Given the description of an element on the screen output the (x, y) to click on. 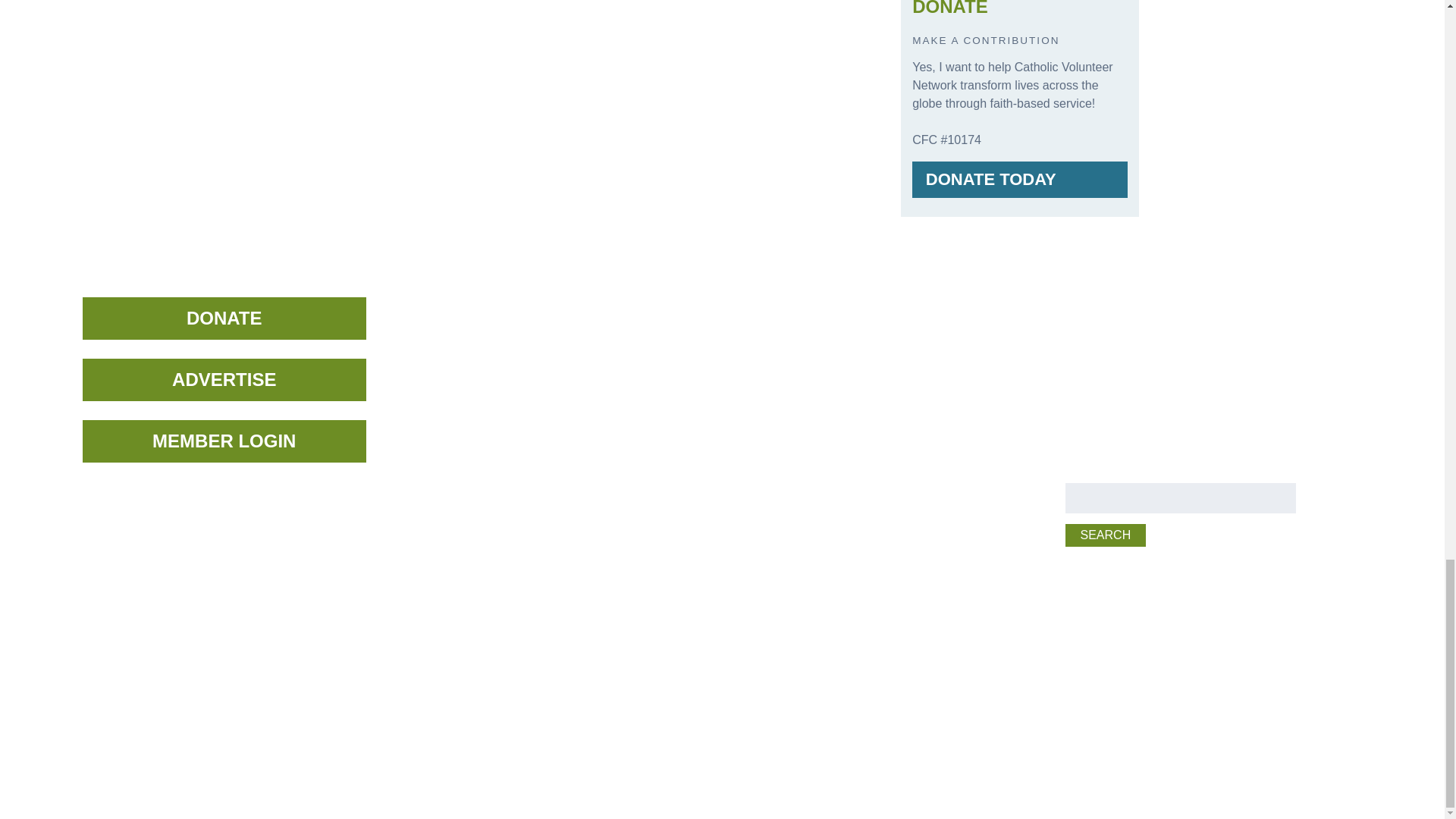
DONATE TODAY (1019, 179)
WHO WE ARE (464, 308)
ADVERTISE (223, 379)
DONATE (223, 318)
MEMBER LOGIN (223, 441)
Contact Us (115, 580)
